Given the description of an element on the screen output the (x, y) to click on. 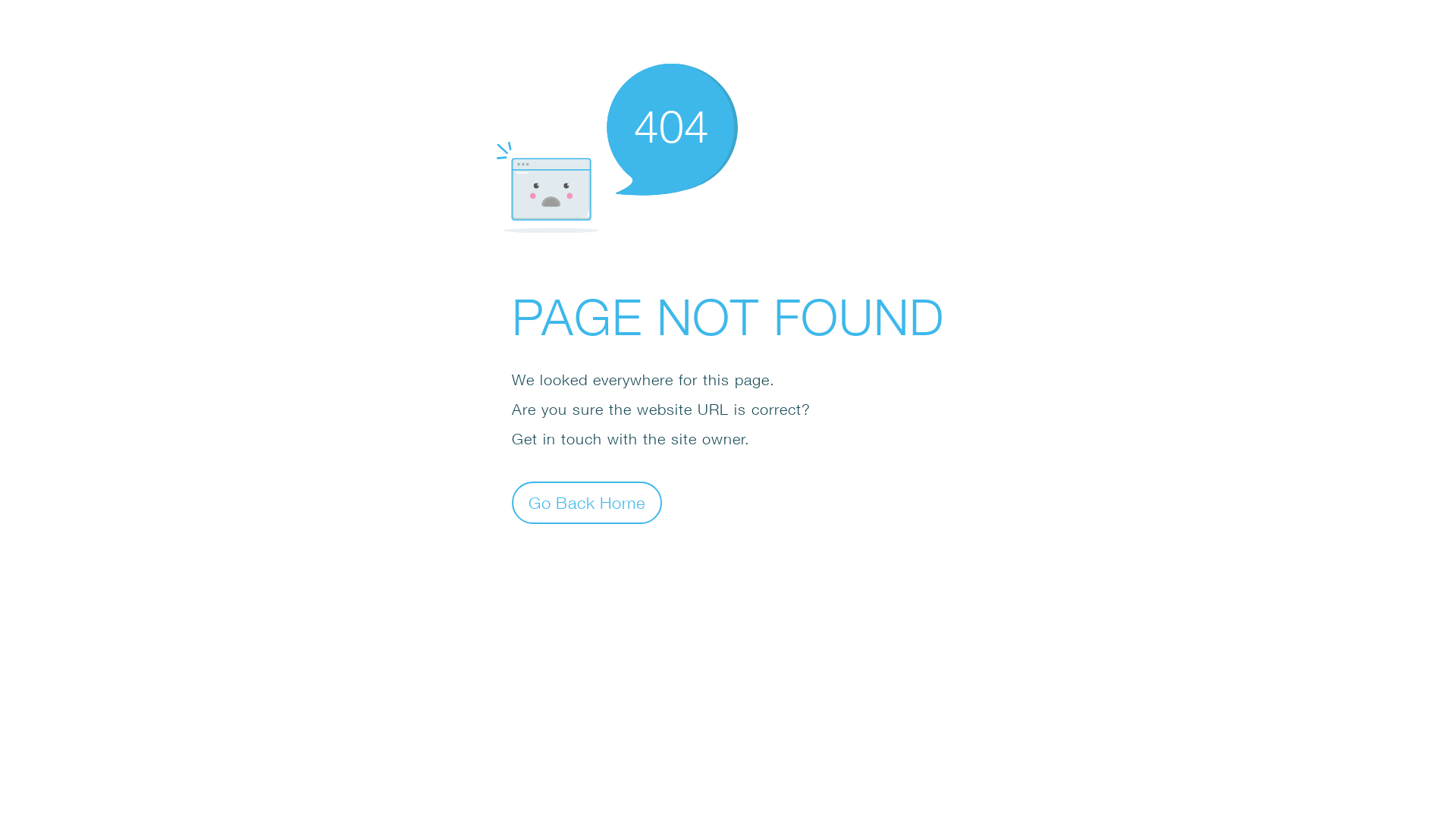
Go Back Home Element type: text (586, 502)
